Given the description of an element on the screen output the (x, y) to click on. 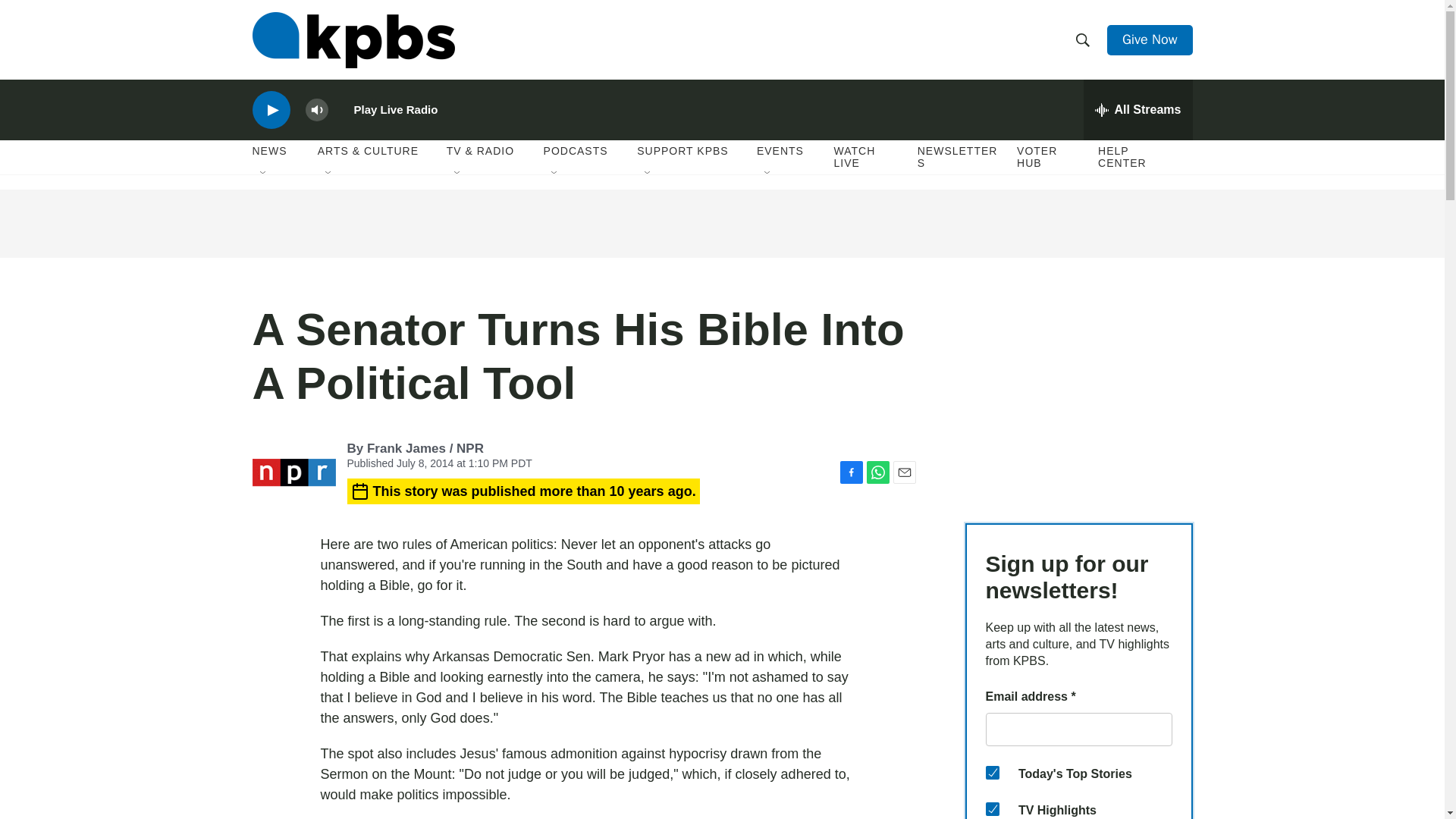
4 (991, 772)
5 (991, 808)
